Given the description of an element on the screen output the (x, y) to click on. 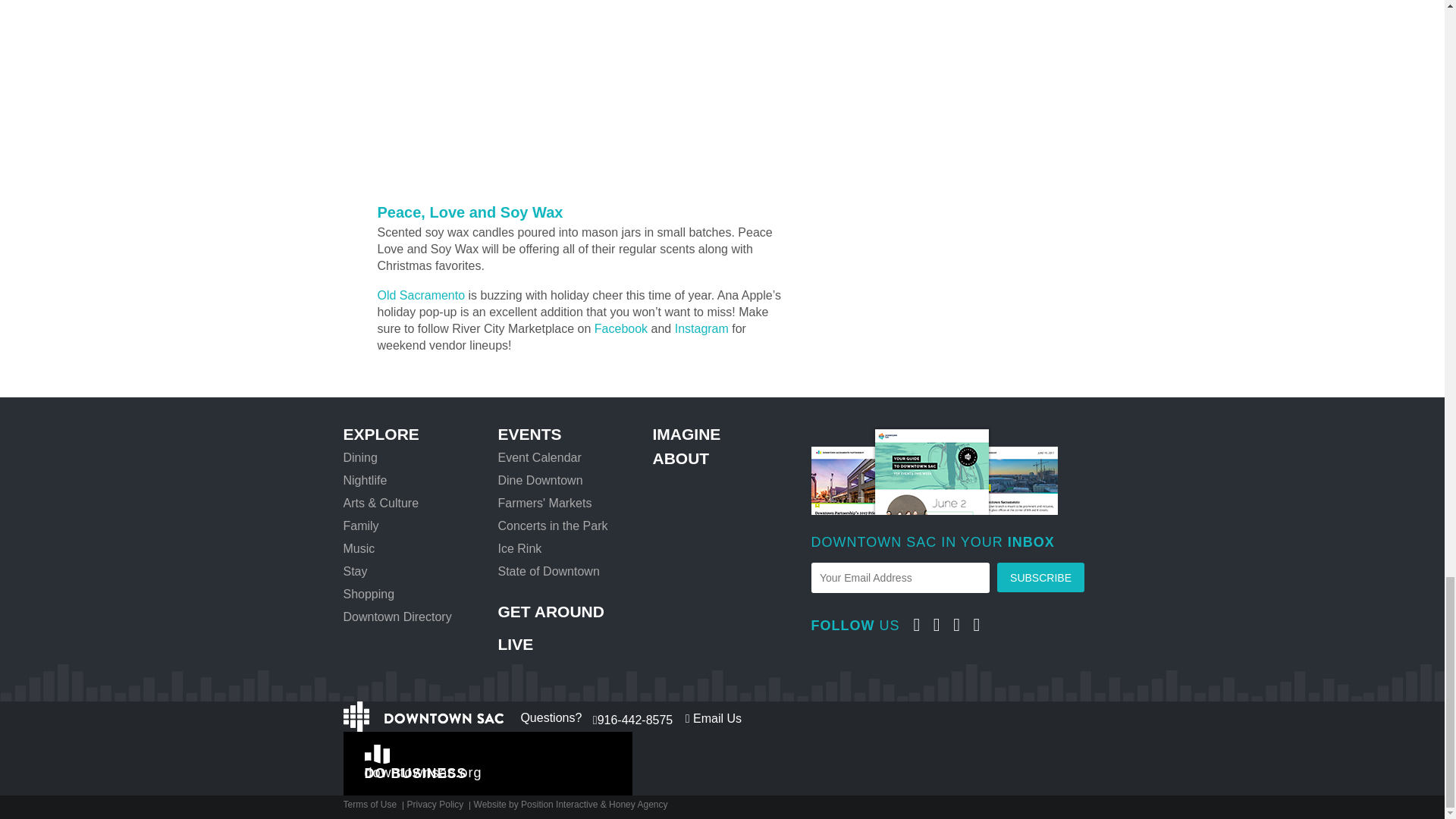
Subscribe (1040, 577)
